Given the description of an element on the screen output the (x, y) to click on. 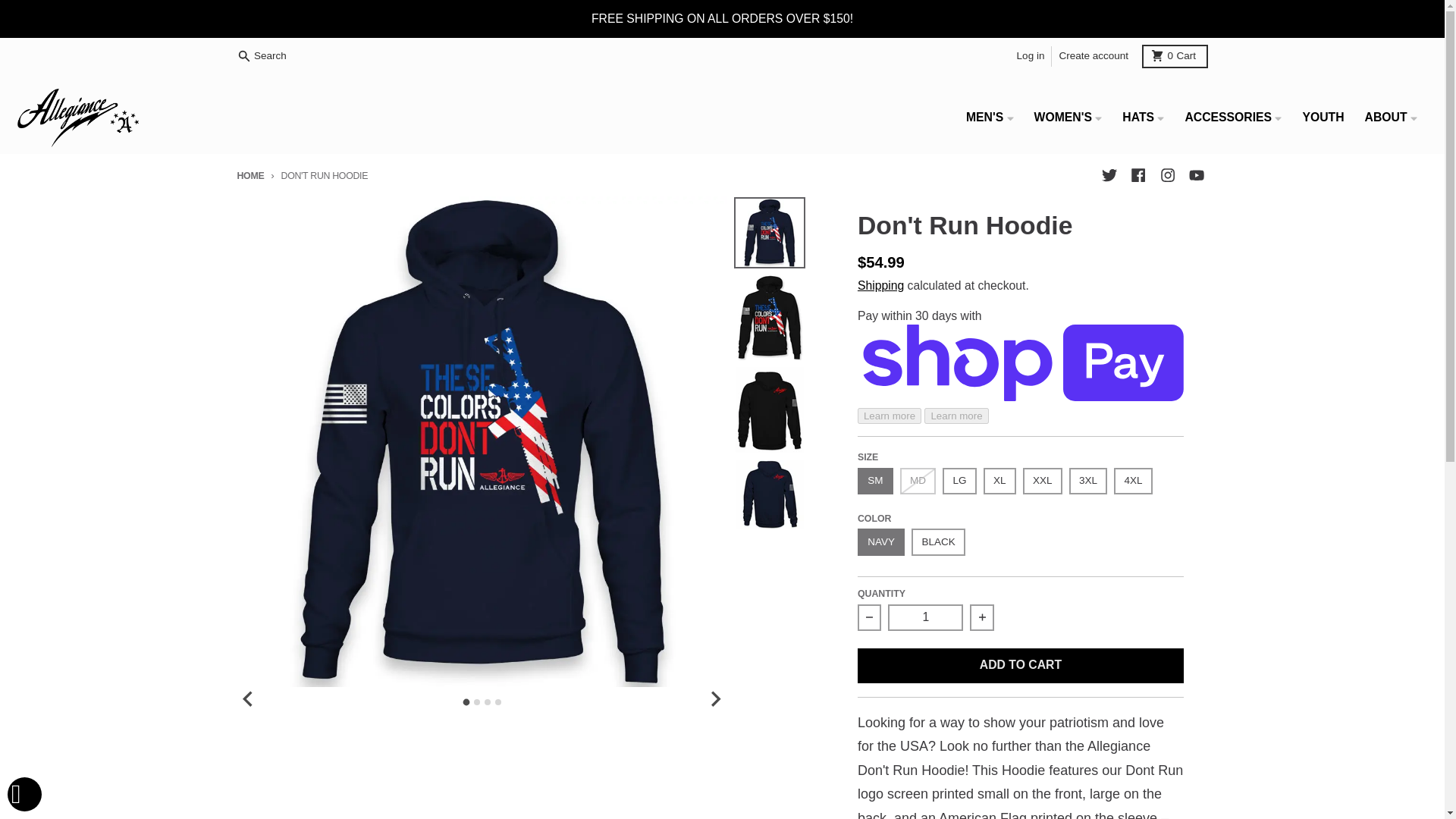
Log in (1030, 55)
Back to the homepage (249, 175)
YouTube - Allegiance Clothing (1196, 175)
Twitter - Allegiance Clothing (1108, 175)
Facebook - Allegiance Clothing (1138, 175)
Create account (1093, 55)
Search (1174, 55)
